Given the description of an element on the screen output the (x, y) to click on. 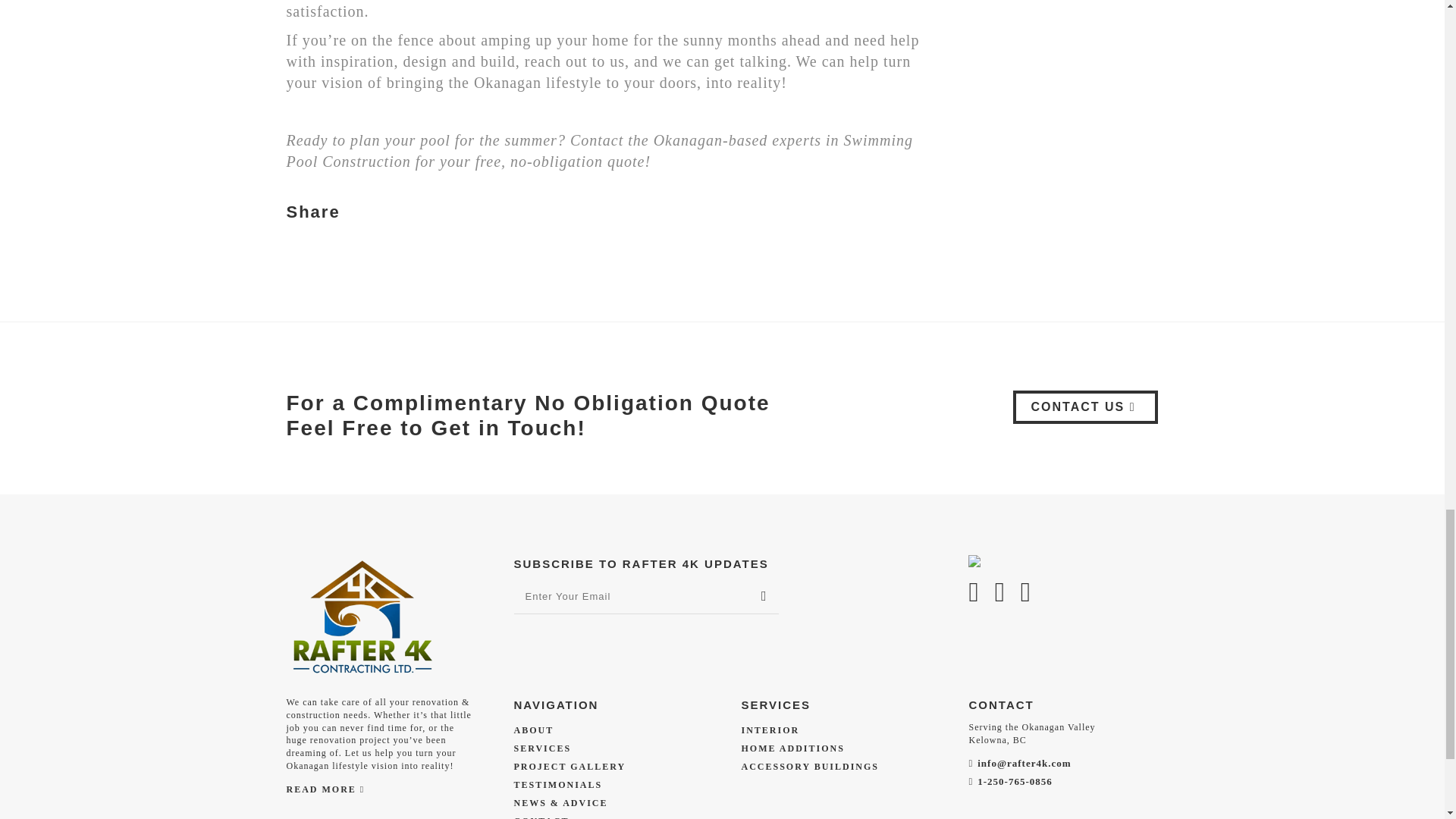
PROJECT GALLERY (569, 766)
ABOUT (533, 729)
CONTACT US (1085, 407)
READ MORE (325, 790)
SERVICES (542, 747)
